Given the description of an element on the screen output the (x, y) to click on. 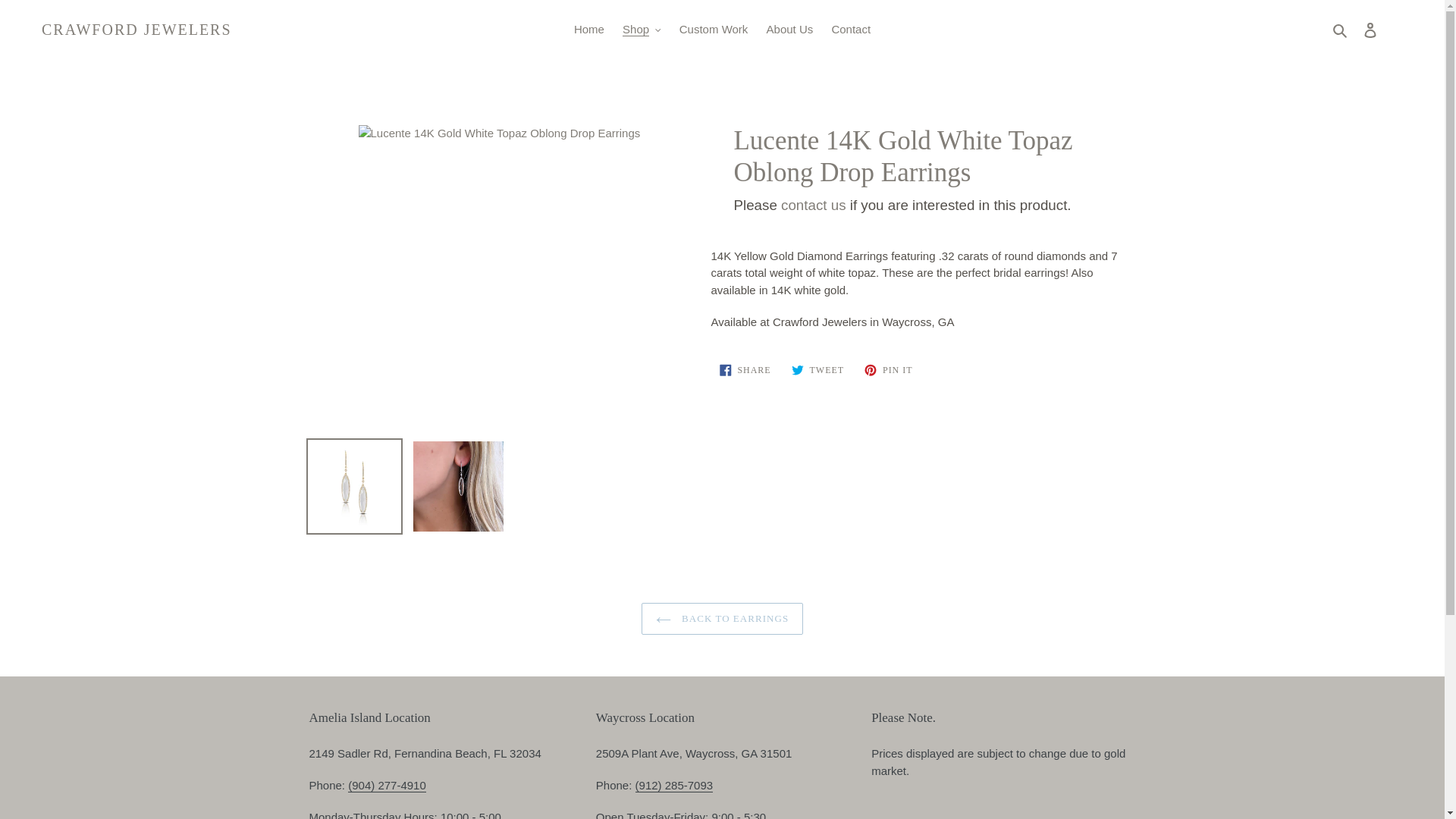
About Us (789, 29)
Custom Work (713, 29)
Shop (641, 29)
Contact (850, 29)
Search (1340, 29)
CRAWFORD JEWELERS (136, 29)
Cart (1394, 29)
Home (588, 29)
Log in (1370, 29)
